Given the description of an element on the screen output the (x, y) to click on. 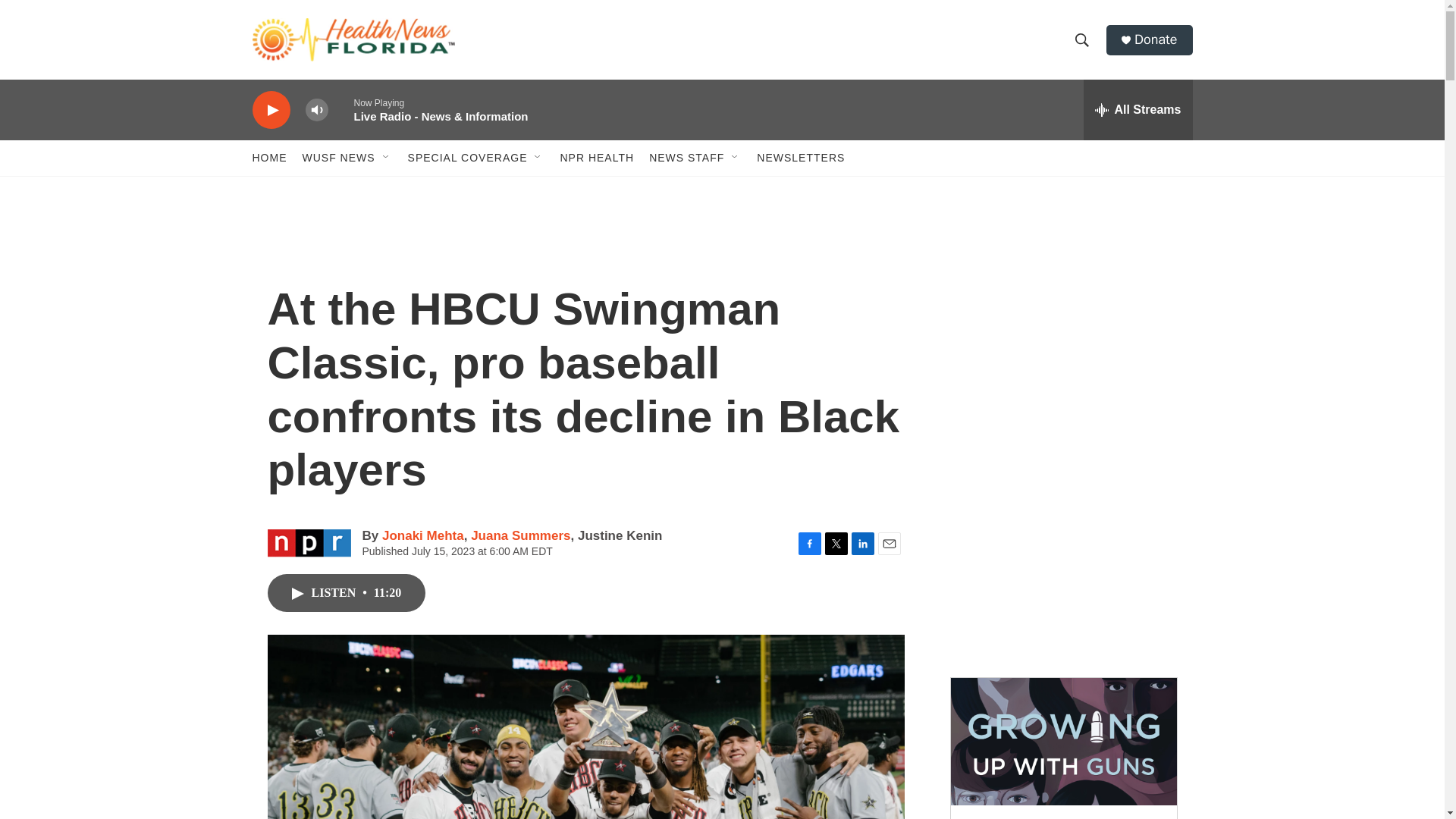
3rd party ad content (1062, 331)
3rd party ad content (1062, 552)
